Given the description of an element on the screen output the (x, y) to click on. 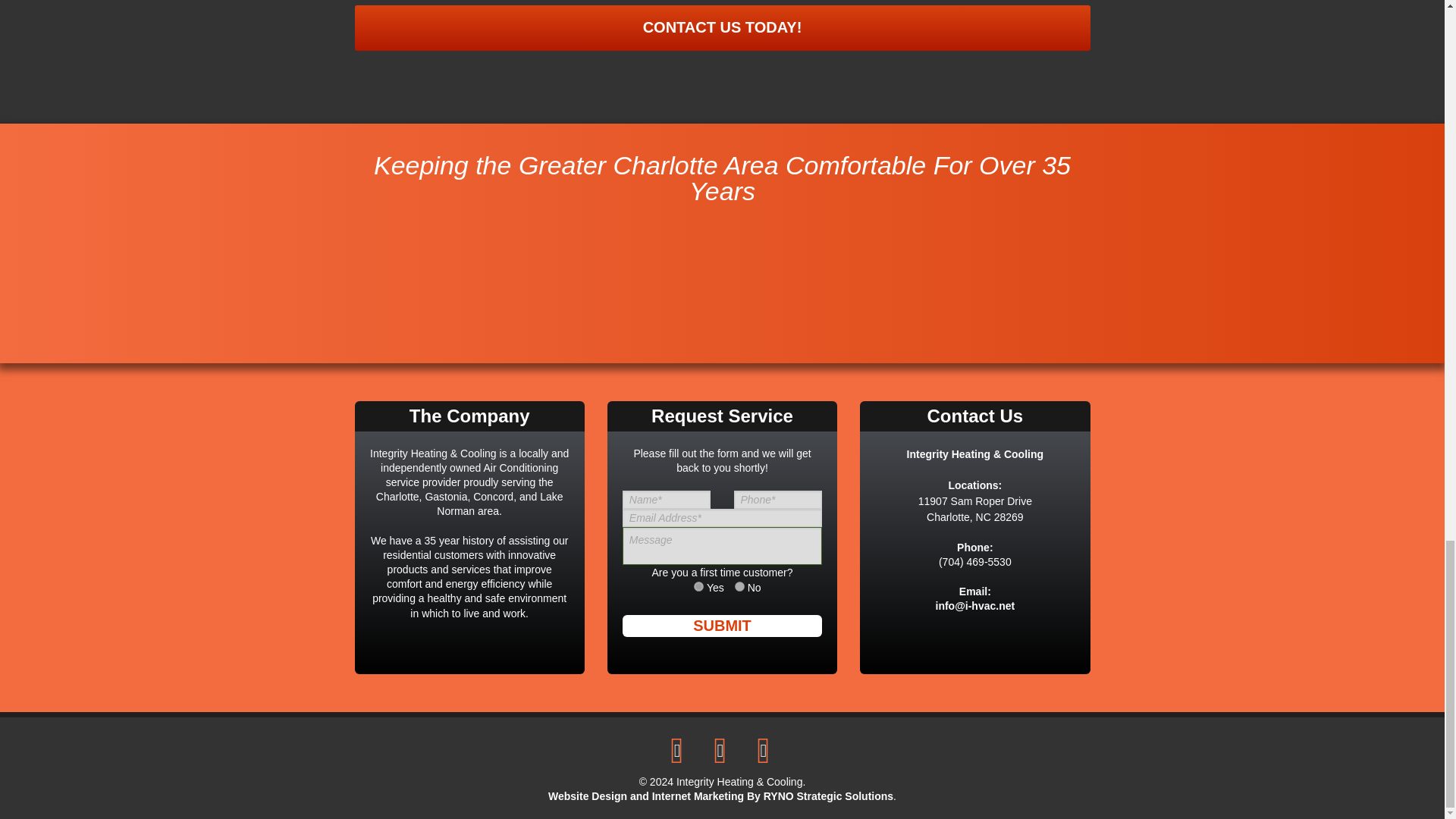
SUBMIT (722, 626)
No (739, 586)
Yes (698, 586)
